Given the description of an element on the screen output the (x, y) to click on. 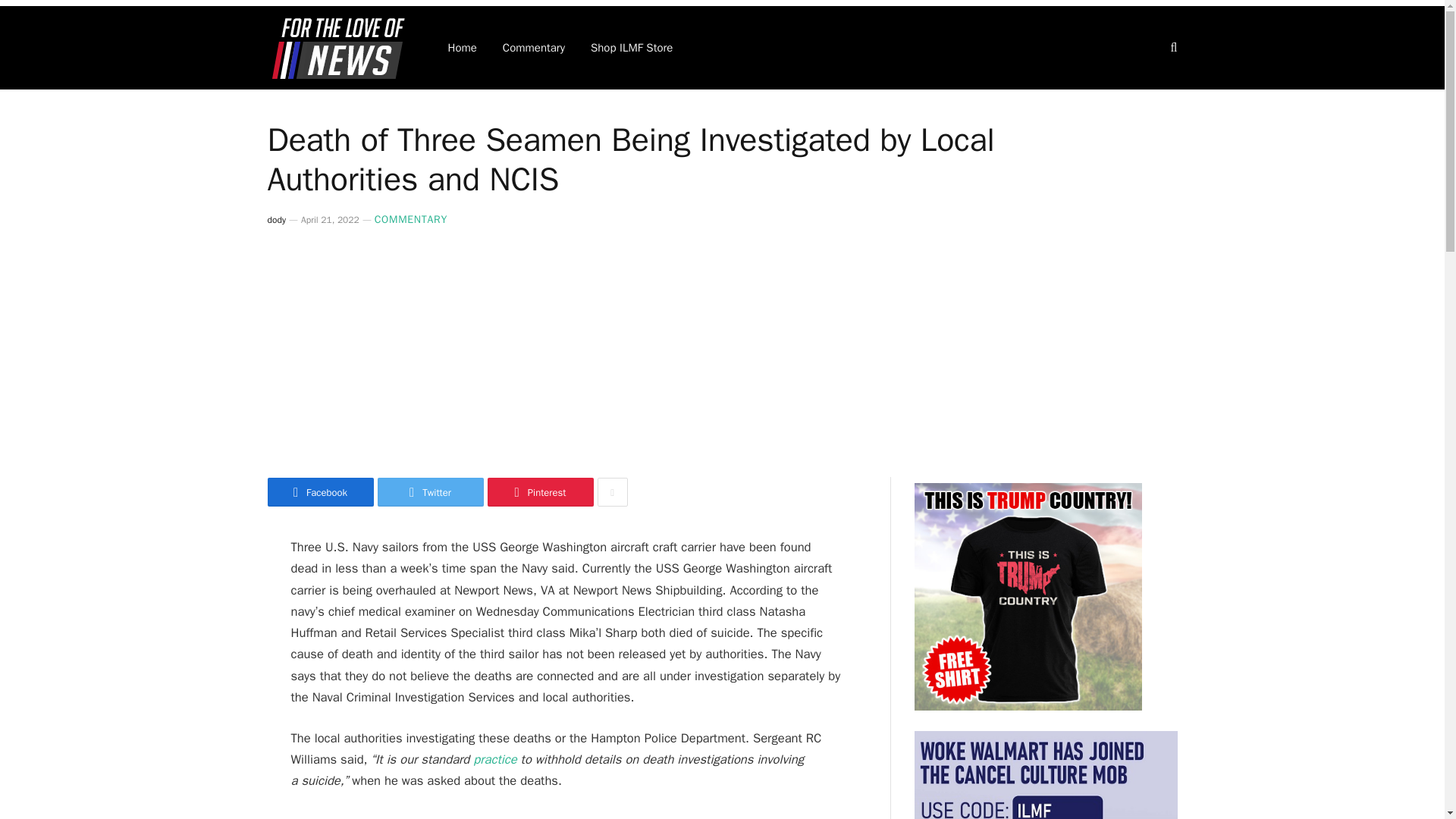
Share on Pinterest (539, 491)
Share on Facebook (319, 491)
Facebook (319, 491)
COMMENTARY (410, 219)
Show More Social Sharing (611, 491)
Commentary (533, 47)
Twitter (430, 491)
For the Love of News (336, 46)
Shop ILMF Store (631, 47)
